Given the description of an element on the screen output the (x, y) to click on. 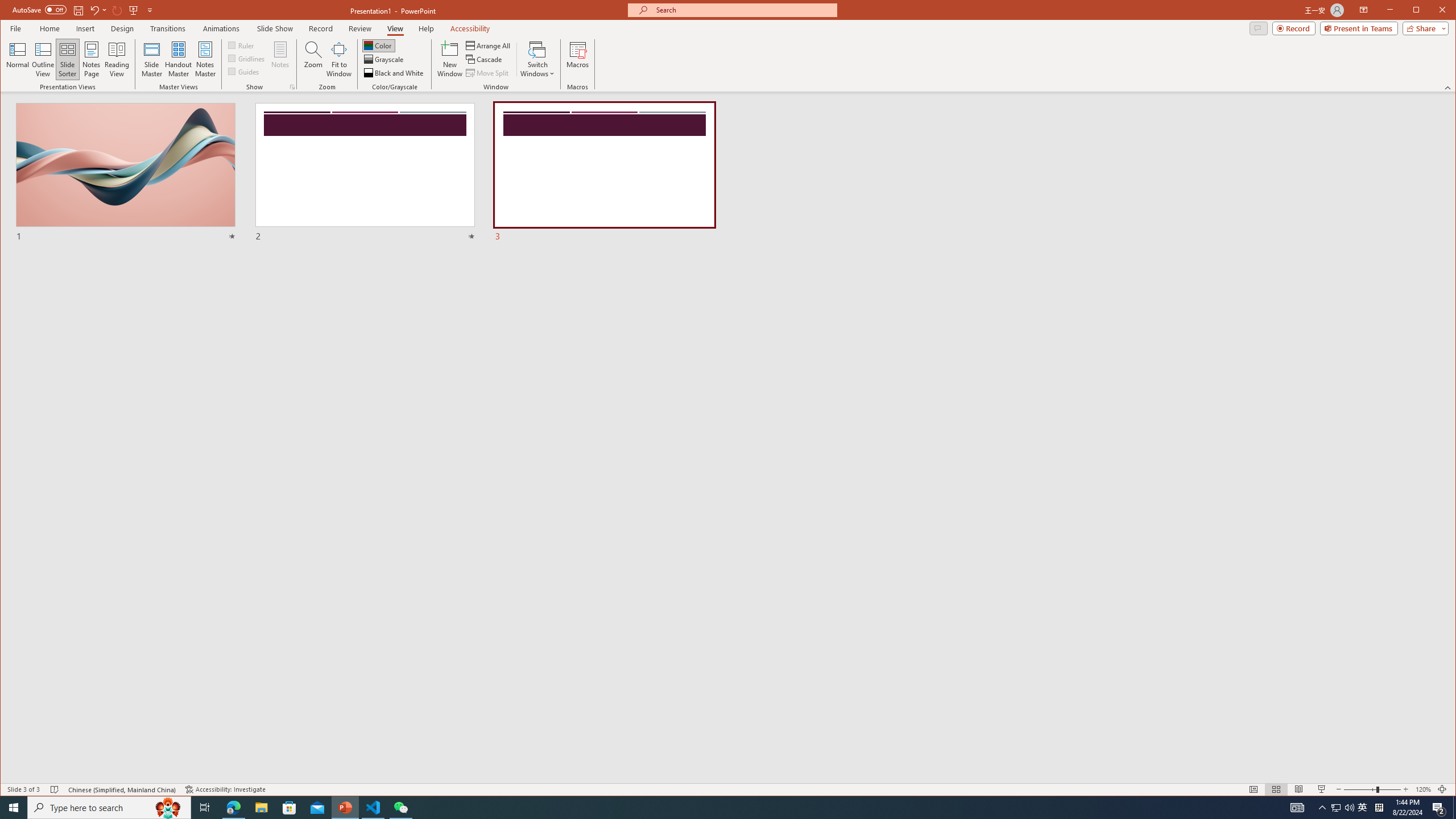
Macros (576, 59)
